Given the description of an element on the screen output the (x, y) to click on. 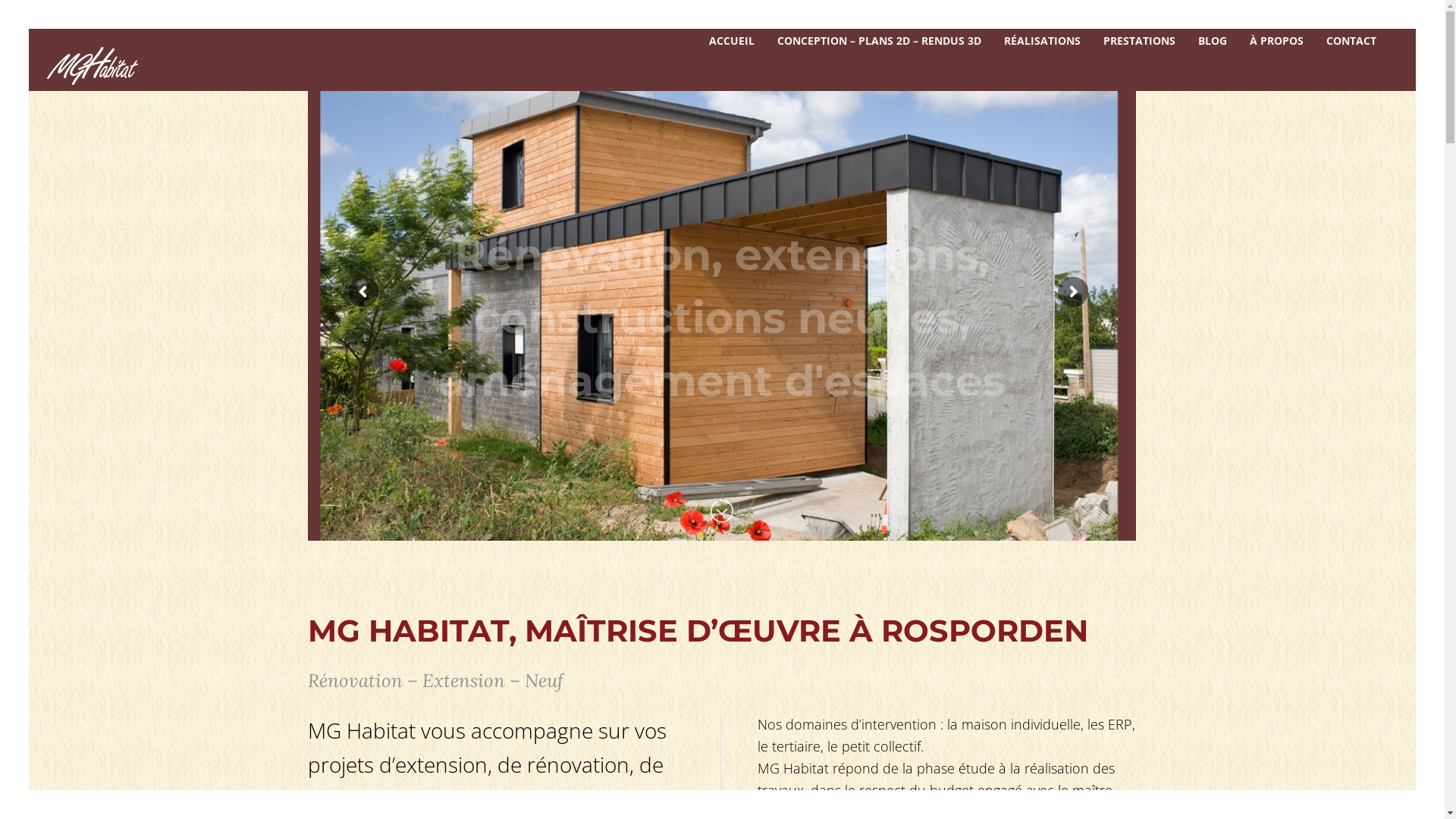
PRESTATIONS Element type: text (1139, 39)
BLOG Element type: text (1212, 39)
CONTACT Element type: text (1350, 39)
Envoyer Element type: text (740, 578)
ACCUEIL Element type: text (731, 39)
